Given the description of an element on the screen output the (x, y) to click on. 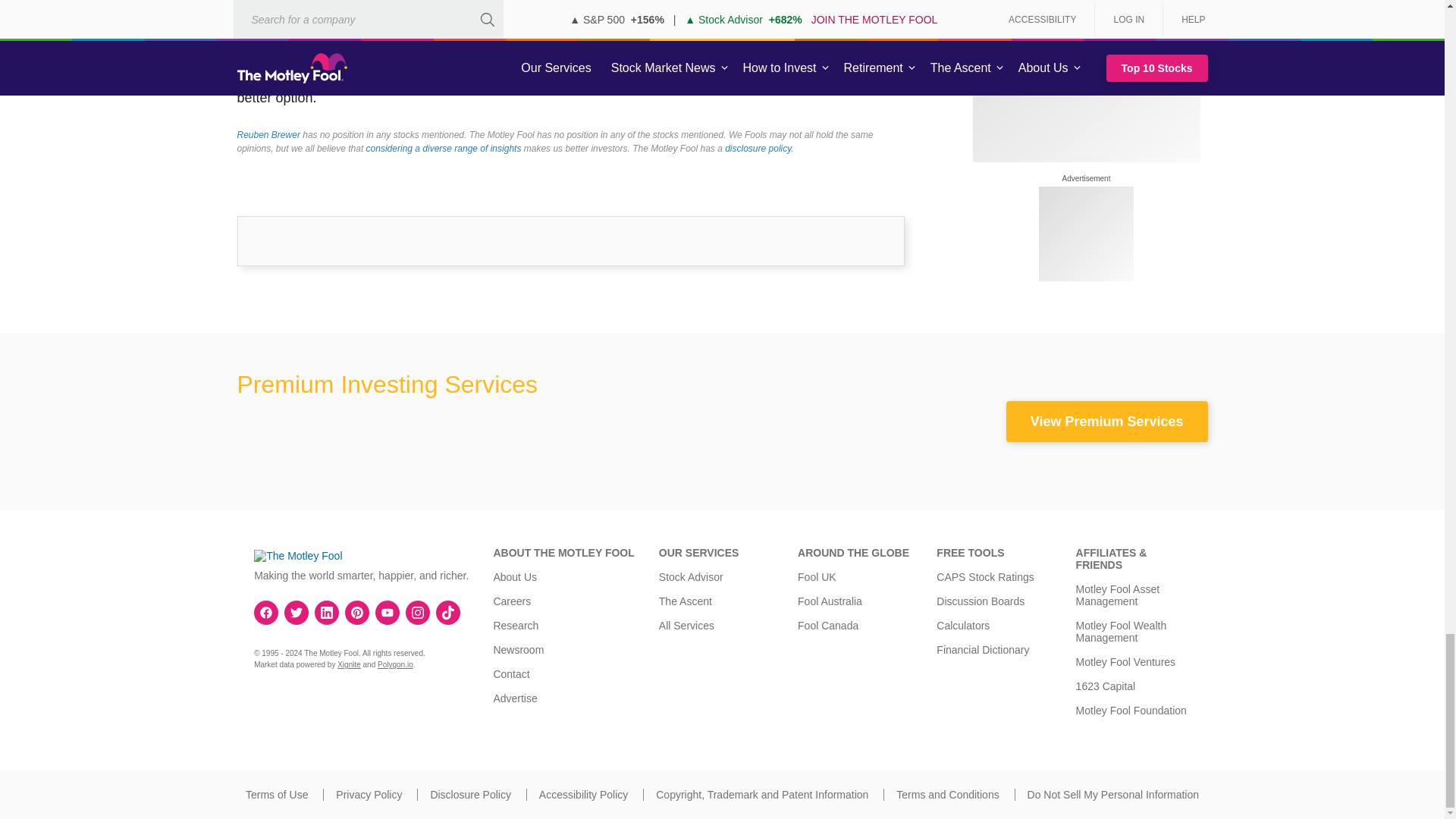
Do Not Sell My Personal Information. (1112, 794)
Privacy Policy (368, 794)
Terms and Conditions (947, 794)
Copyright, Trademark and Patent Information (761, 794)
Terms of Use (276, 794)
Disclosure Policy (470, 794)
Accessibility Policy (582, 794)
